Given the description of an element on the screen output the (x, y) to click on. 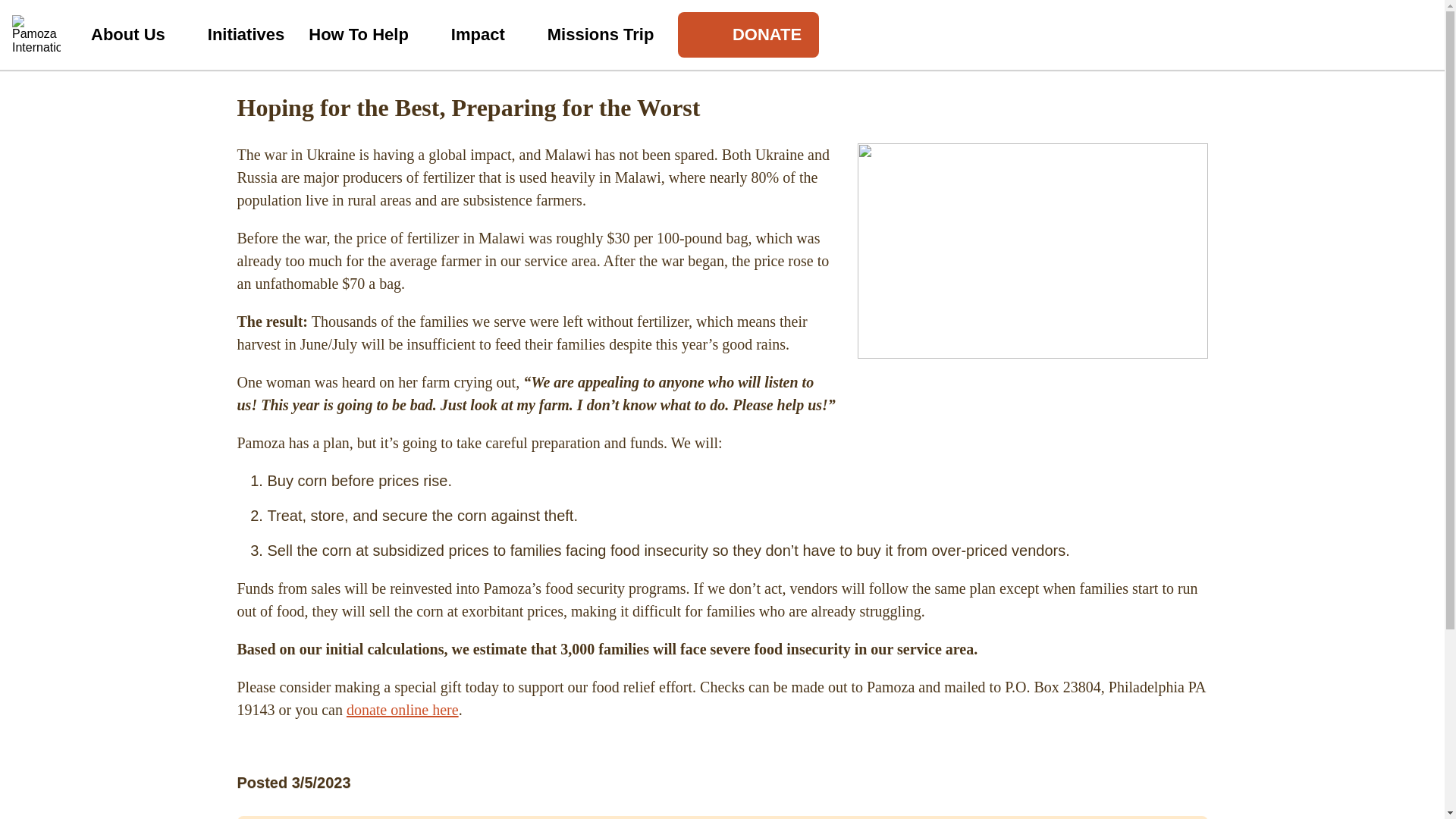
How To Help (367, 34)
About Us (136, 34)
Missions Trip (600, 34)
Initiatives (245, 34)
Impact (486, 34)
donate online here (402, 709)
DONATE (748, 34)
